Given the description of an element on the screen output the (x, y) to click on. 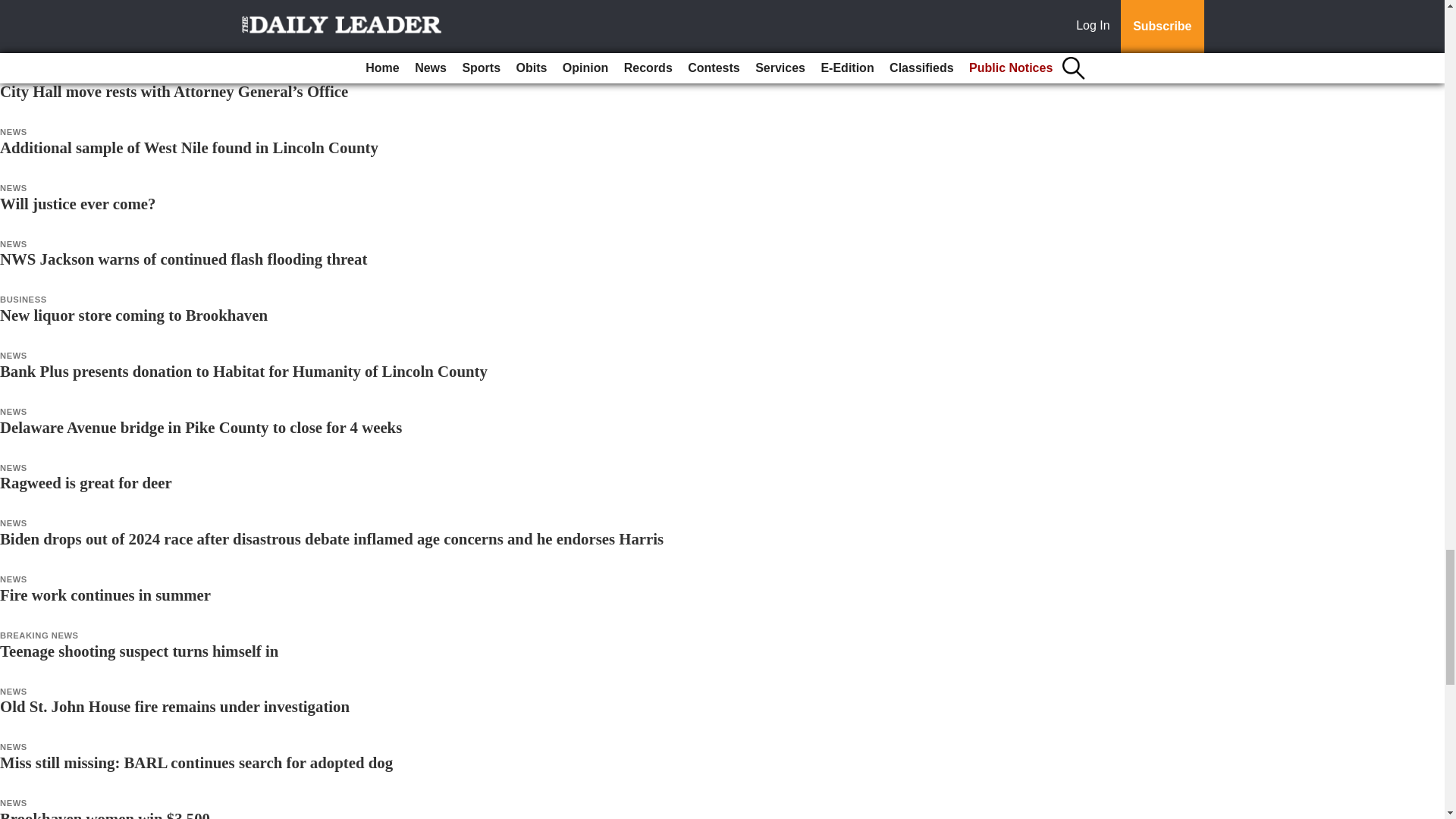
Will justice ever come? (77, 203)
Additional sample of West Nile found in Lincoln County (189, 147)
NWS Jackson warns of continued flash flooding threat (183, 258)
Ragweed is great for deer (85, 482)
New liquor store coming to Brookhaven (133, 314)
Delaware Avenue bridge in Pike County to close for 4 weeks (200, 426)
